Given the description of an element on the screen output the (x, y) to click on. 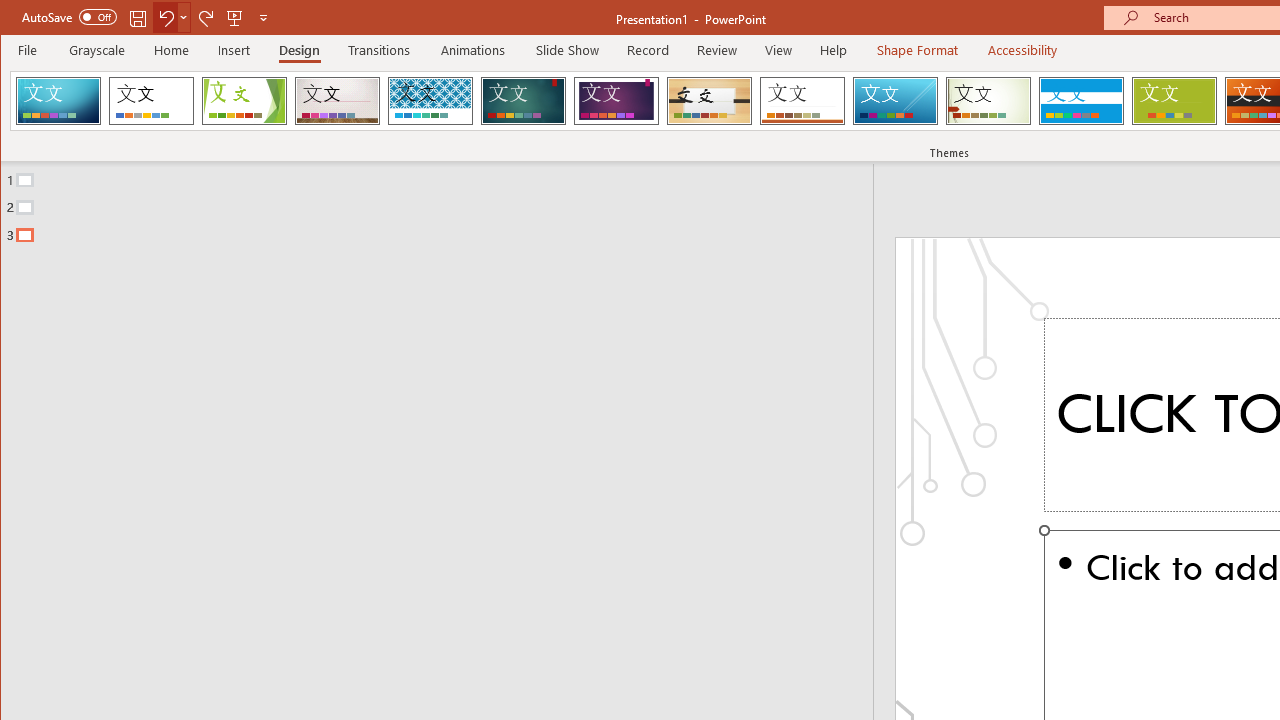
Basis (1174, 100)
Wisp (988, 100)
